Given the description of an element on the screen output the (x, y) to click on. 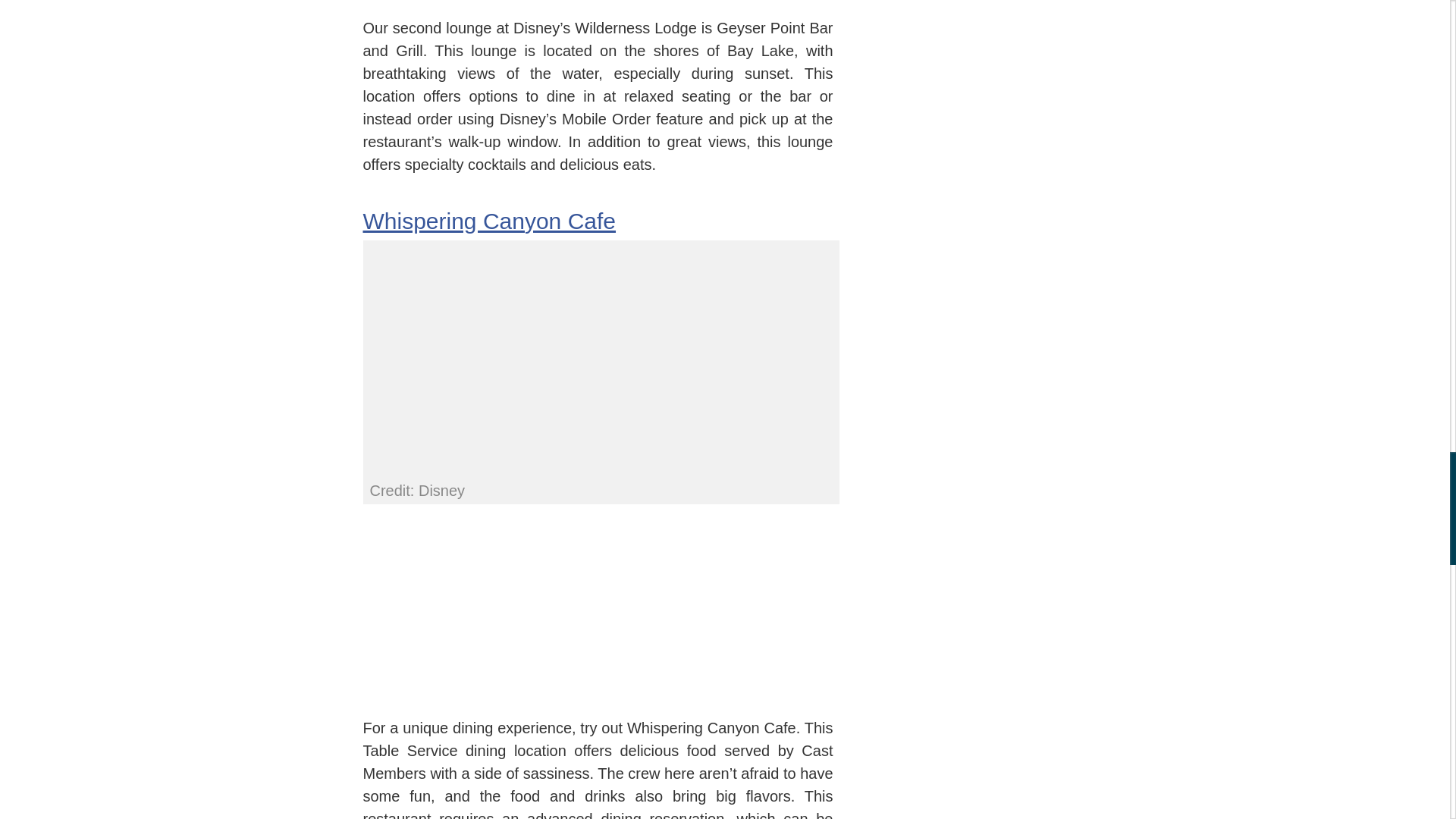
Whispering Canyon Cafe (488, 220)
